Given the description of an element on the screen output the (x, y) to click on. 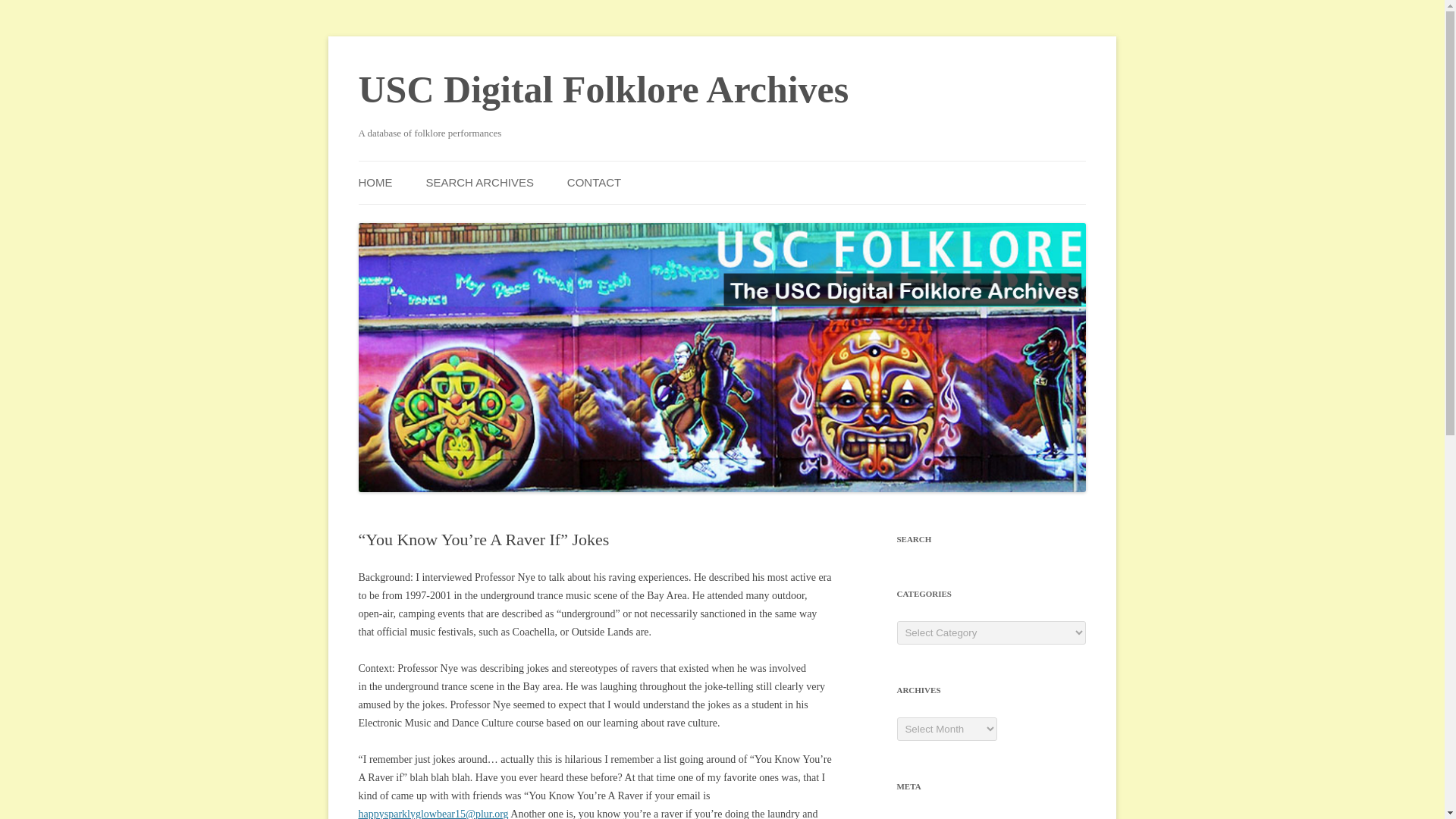
USC Digital Folklore Archives (603, 89)
SEARCH ARCHIVES (479, 182)
USC Digital Folklore Archives (603, 89)
CONTACT (594, 182)
Log in (909, 817)
